Given the description of an element on the screen output the (x, y) to click on. 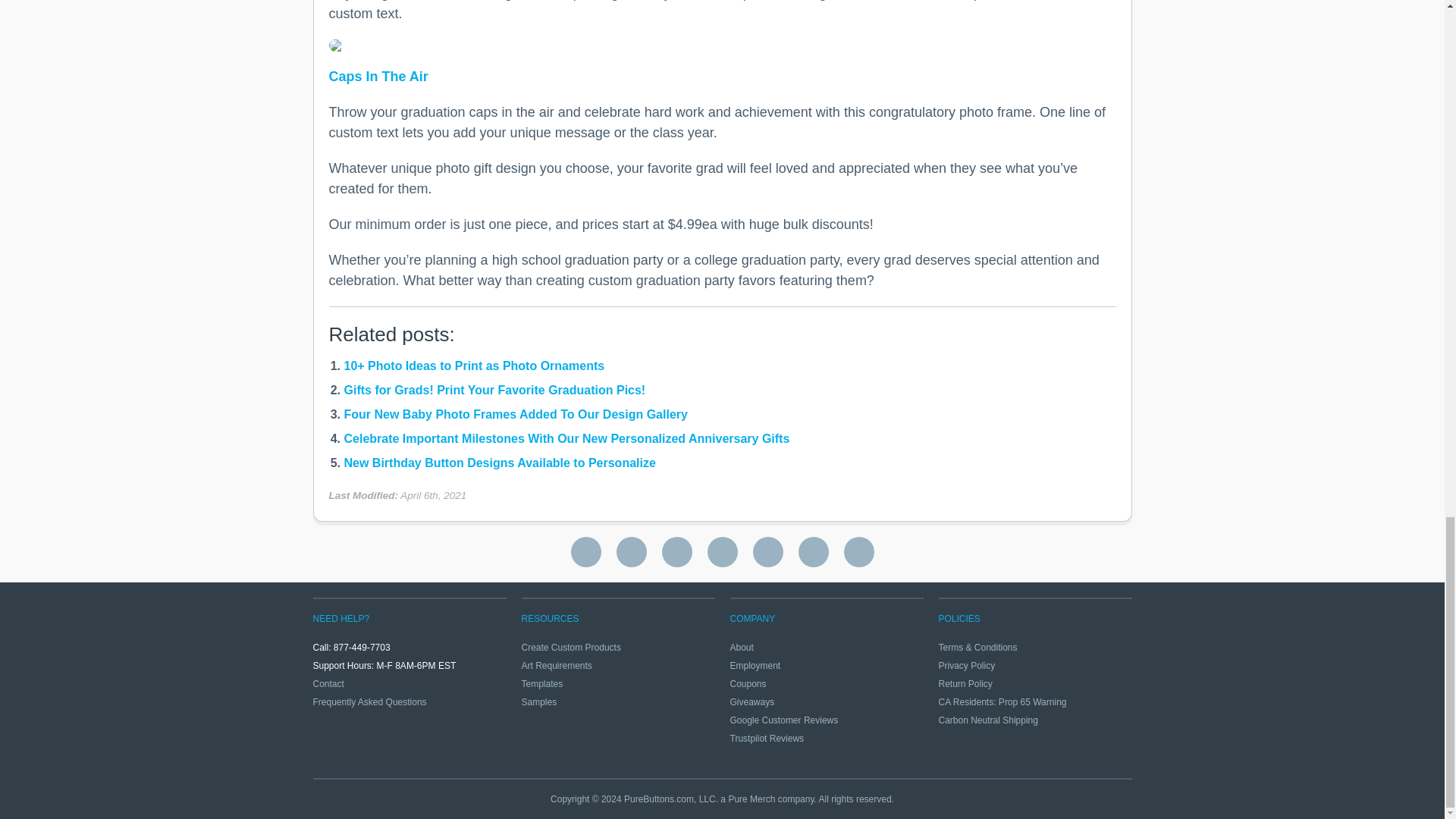
New Birthday Button Designs Available to Personalize (499, 462)
Four New Baby Photo Frames Added To Our Design Gallery (515, 413)
Gifts for Grads! Print Your Favorite Graduation Pics! (494, 390)
Pure Buttons Google Reviews (584, 552)
